Given the description of an element on the screen output the (x, y) to click on. 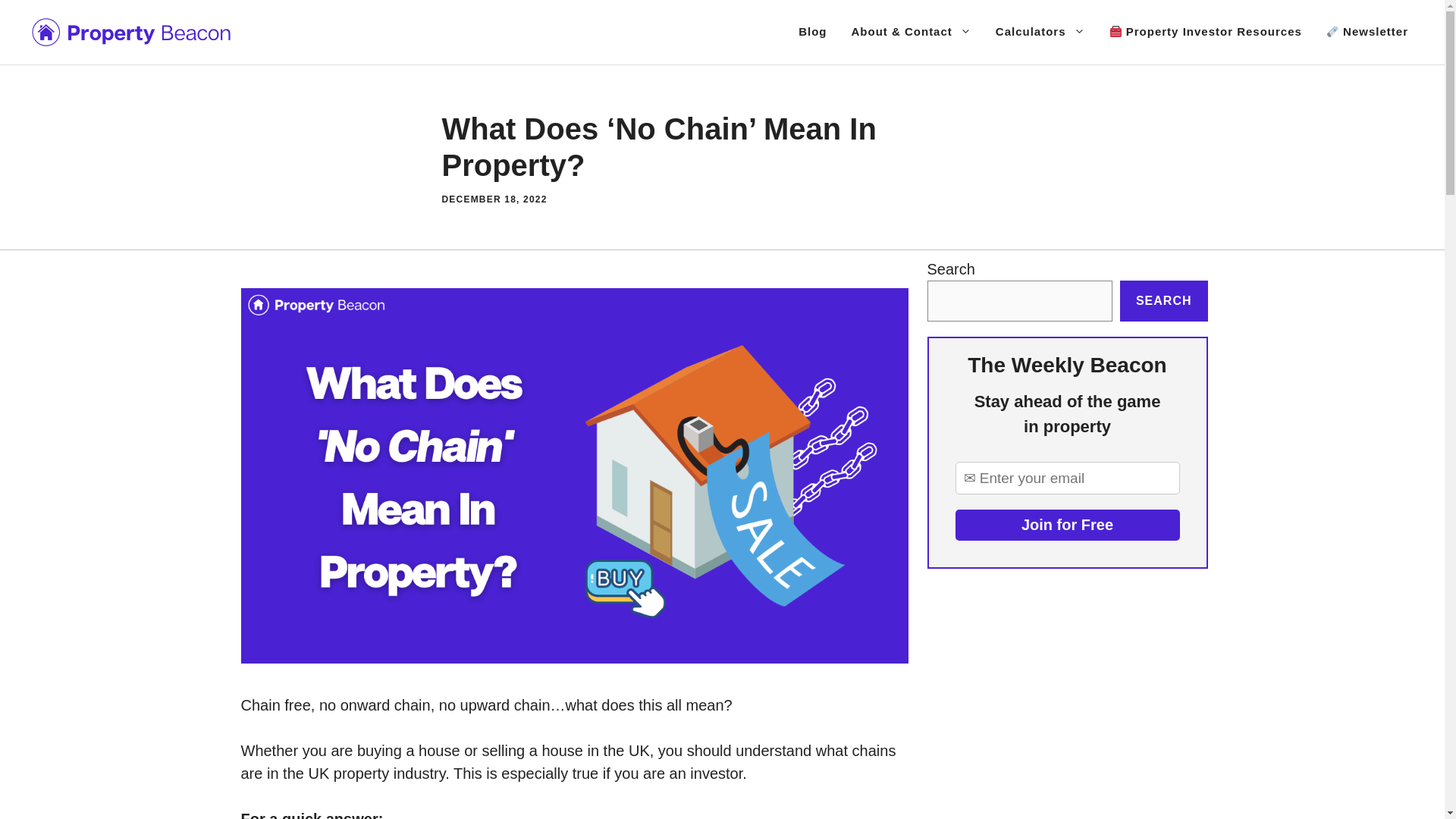
Property Investor Resources (1205, 31)
Join for Free (1067, 524)
SEARCH (1163, 300)
Calculators (1040, 31)
Blog (812, 31)
Newsletter (1367, 31)
